Given the description of an element on the screen output the (x, y) to click on. 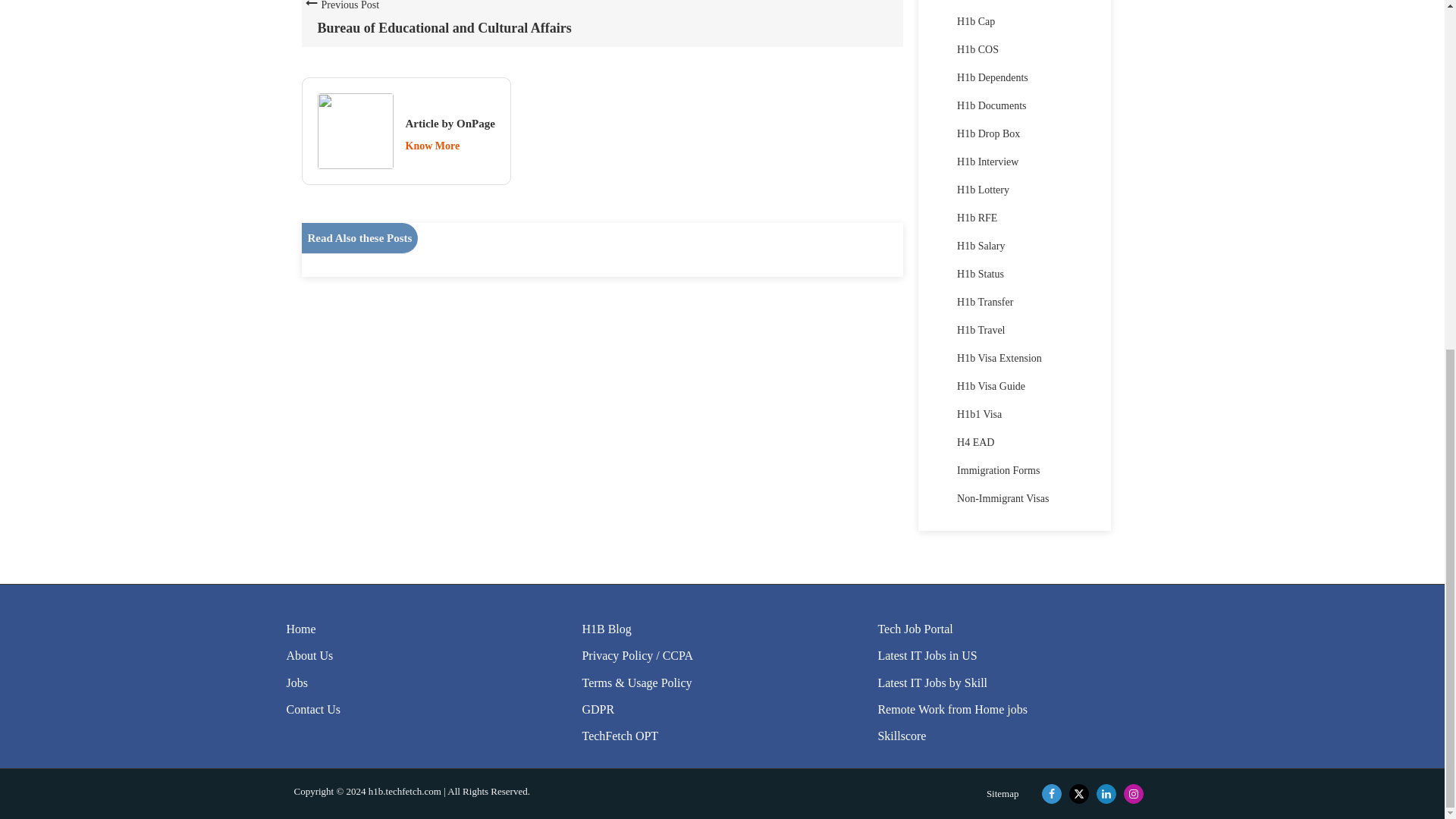
H1b Status (980, 274)
Know More (432, 146)
H1b Interview (986, 161)
H1b COS (977, 49)
H1b Documents (991, 105)
H1b Cap (975, 21)
H1b Lottery (451, 21)
H1b RFE (982, 189)
H1b Drop Box (976, 217)
